Given the description of an element on the screen output the (x, y) to click on. 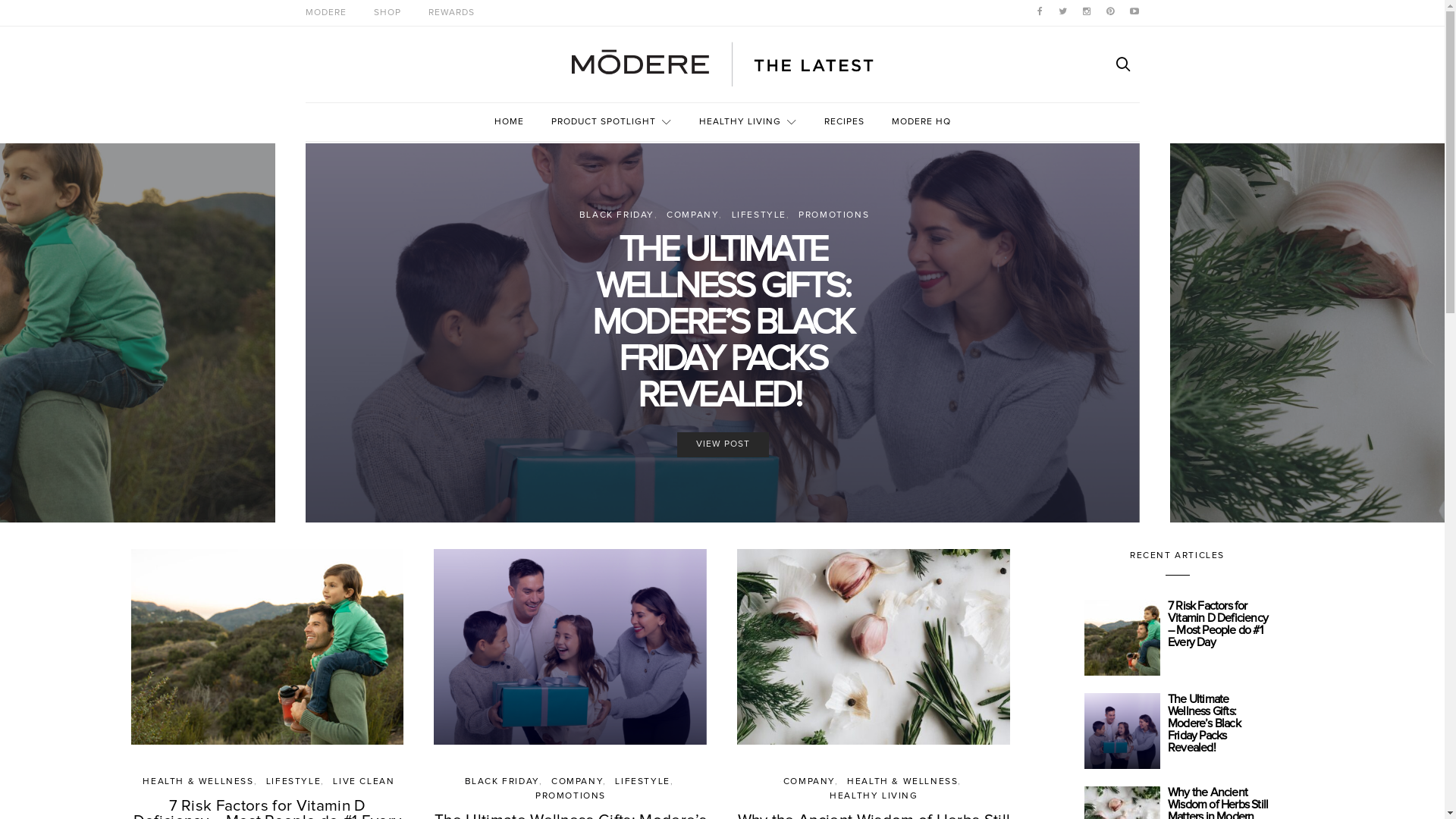
MODERE Element type: text (324, 12)
PROMOTIONS Element type: text (570, 795)
BLACK FRIDAY Element type: text (501, 781)
HEALTHY LIVING Element type: text (748, 122)
PRODUCT SPOTLIGHT Element type: text (610, 122)
VIEW POST Element type: text (722, 444)
MODERE HQ Element type: text (920, 122)
BLACK FRIDAY Element type: text (616, 215)
LIFESTYLE Element type: text (642, 781)
LIFESTYLE Element type: text (758, 215)
HEALTH & WELLNESS Element type: text (902, 781)
COMPANY Element type: text (808, 781)
HEALTH & WELLNESS Element type: text (197, 781)
SHOP Element type: text (386, 12)
HOME Element type: text (509, 122)
REWARDS Element type: text (450, 12)
PROMOTIONS Element type: text (833, 215)
HEALTHY LIVING Element type: text (873, 795)
COMPANY Element type: text (576, 781)
LIVE CLEAN Element type: text (363, 781)
LIFESTYLE Element type: text (293, 781)
COMPANY Element type: text (692, 215)
RECIPES Element type: text (843, 122)
